Given the description of an element on the screen output the (x, y) to click on. 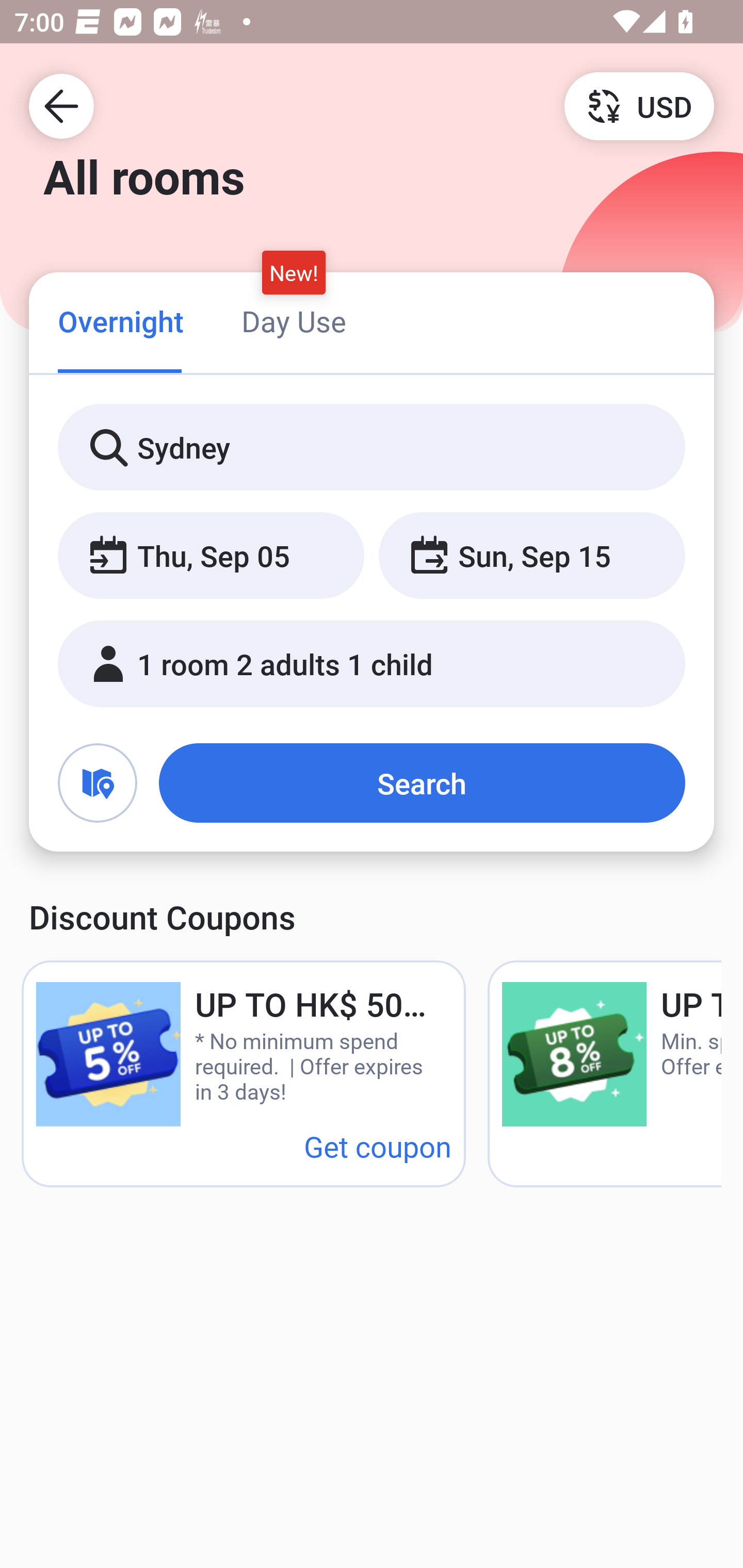
USD (639, 105)
New! (294, 272)
Day Use (293, 321)
Sydney (371, 447)
Thu, Sep 05 (210, 555)
Sun, Sep 15 (531, 555)
1 room 2 adults 1 child (371, 663)
Search (422, 783)
Get coupon (377, 1146)
